Given the description of an element on the screen output the (x, y) to click on. 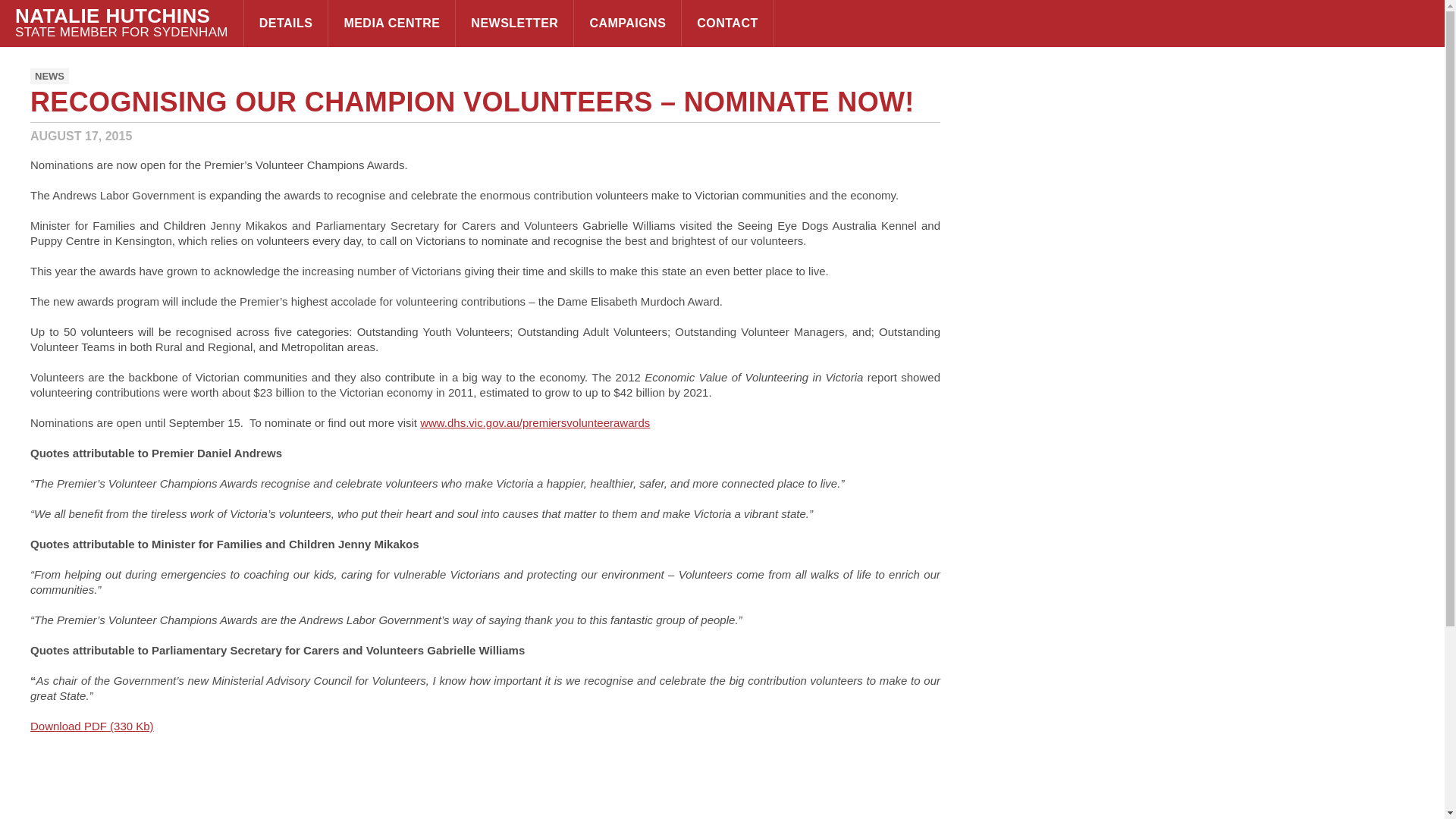
NATALIE HUTCHINS (121, 15)
NEWS (49, 75)
CONTACT (727, 23)
DETAILS (286, 23)
MEDIA CENTRE (391, 23)
CAMPAIGNS (627, 23)
NEWSLETTER (514, 23)
STATE MEMBER FOR SYDENHAM (121, 31)
